Given the description of an element on the screen output the (x, y) to click on. 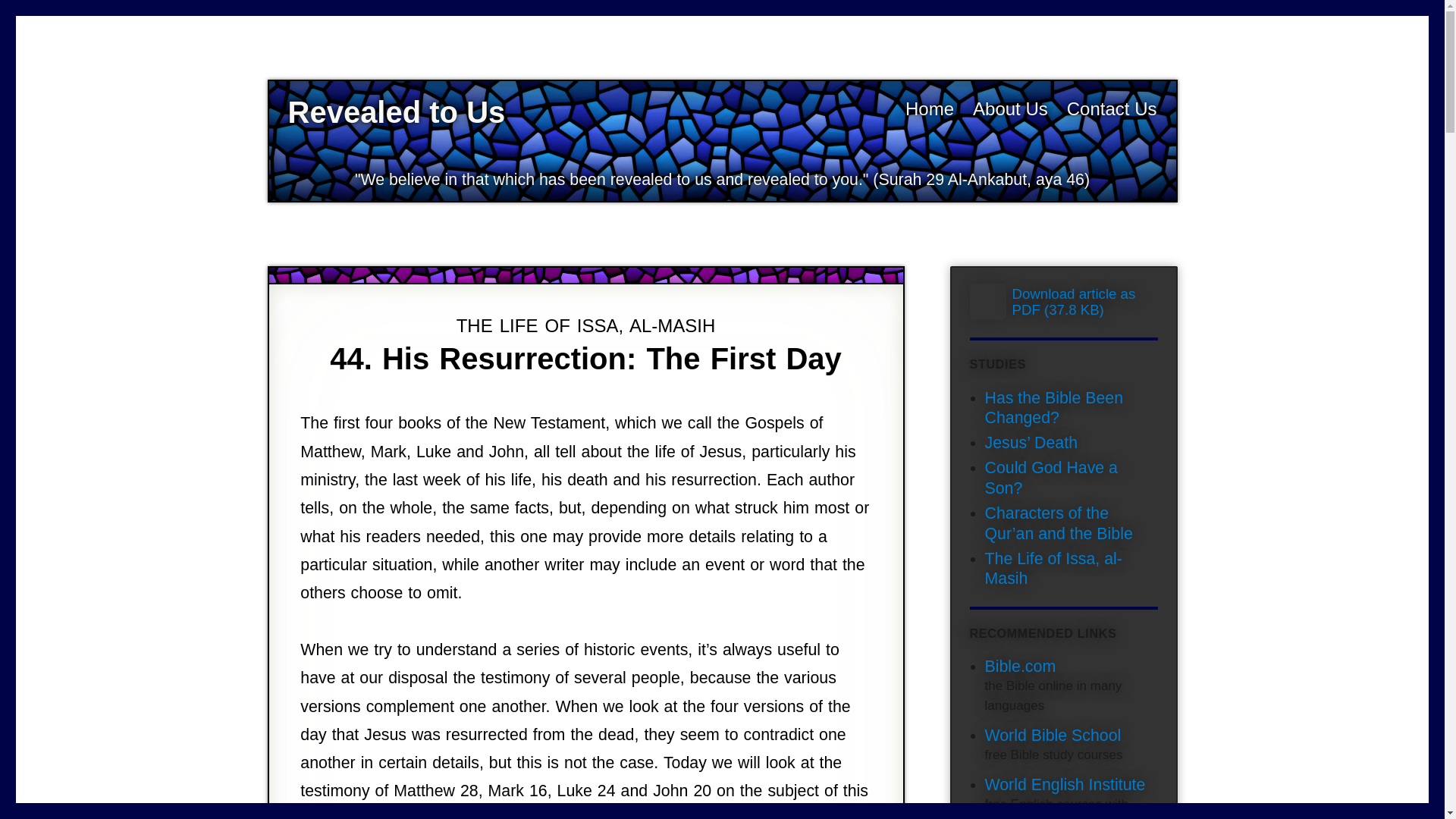
Revealed to Us (396, 111)
Has the Bible Been Changed? (1053, 408)
About Us (1010, 108)
Home (929, 108)
The Life of Issa, al-Masih (1052, 568)
Could God Have a Son? (1050, 477)
Contact Us (1112, 108)
Acceuil (929, 108)
World English Institute (1064, 784)
World Bible School (1052, 735)
